Given the description of an element on the screen output the (x, y) to click on. 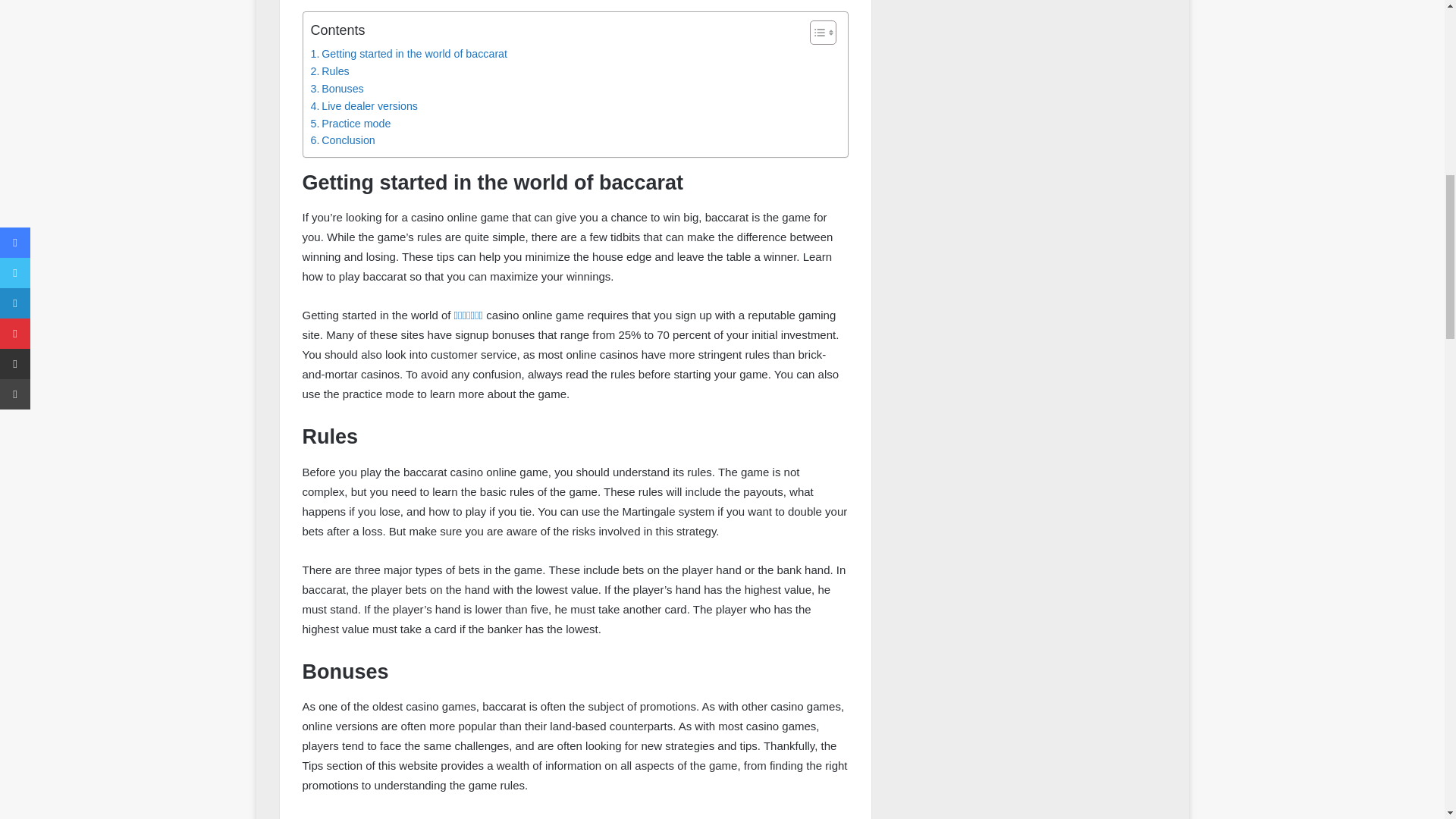
Bonuses (337, 88)
Rules (330, 71)
Conclusion (343, 140)
Practice mode (351, 123)
Practice mode (351, 123)
Rules (330, 71)
Conclusion (343, 140)
Bonuses (337, 88)
Getting started in the world of baccarat (409, 54)
Getting started in the world of baccarat (409, 54)
